Given the description of an element on the screen output the (x, y) to click on. 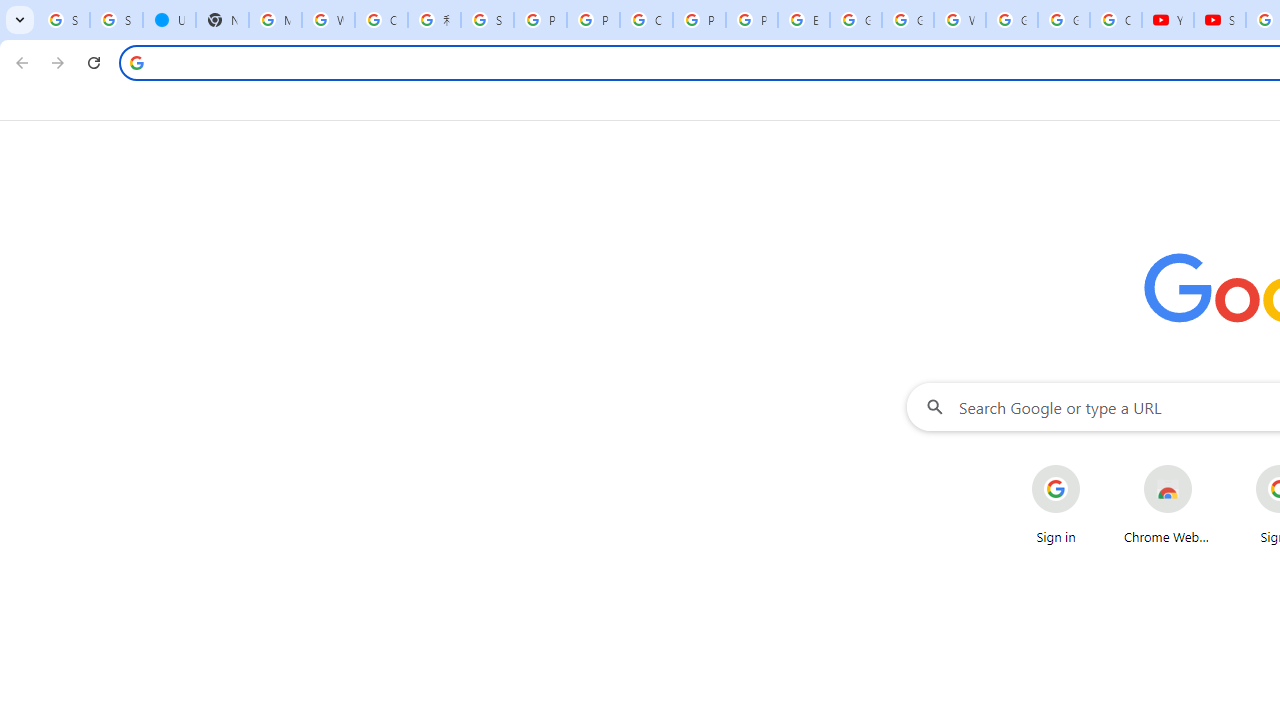
Subscriptions - YouTube (1219, 20)
Who is my administrator? - Google Account Help (328, 20)
Create your Google Account (381, 20)
Chrome Web Store (1167, 504)
Sign in - Google Accounts (116, 20)
Create your Google Account (646, 20)
